Given the description of an element on the screen output the (x, y) to click on. 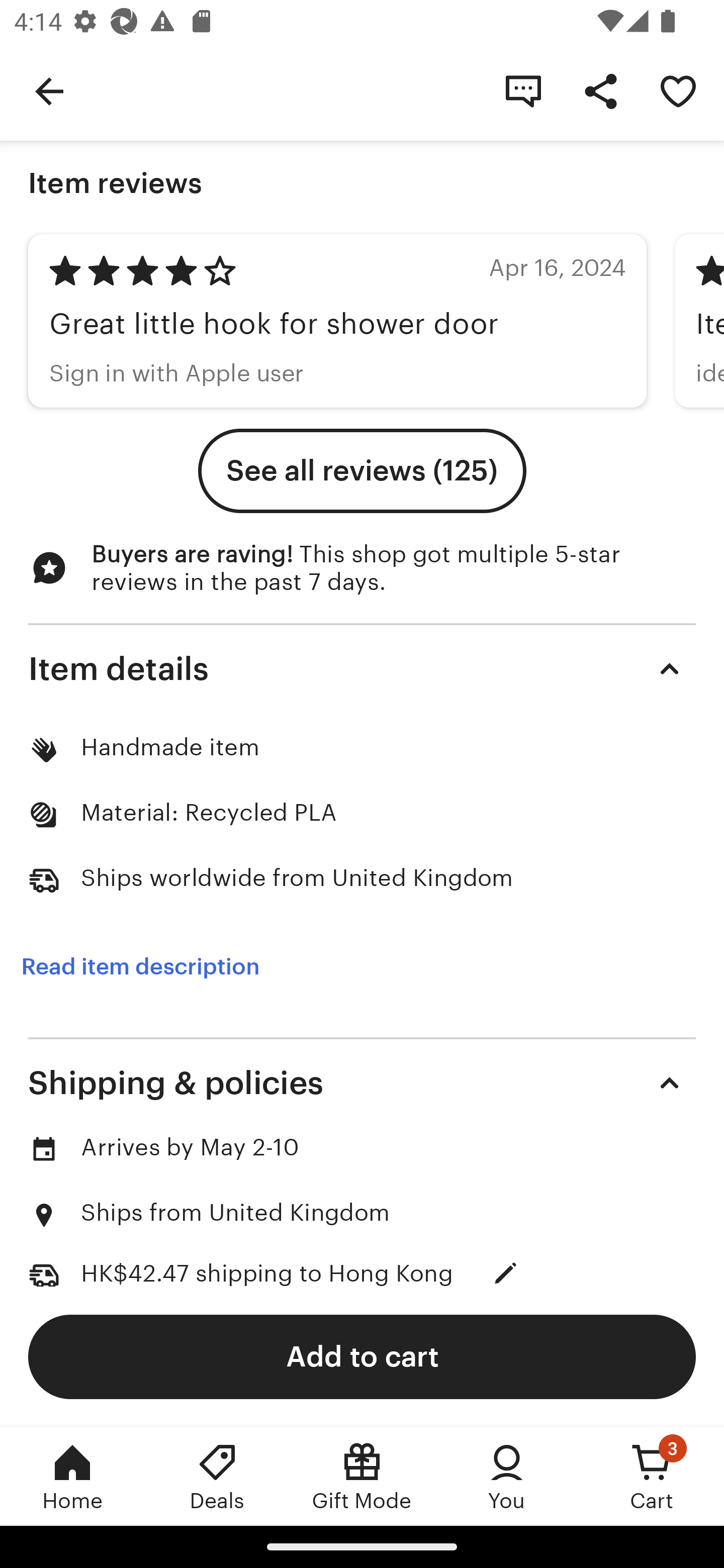
Navigate up (49, 90)
Contact shop (523, 90)
Share (600, 90)
Remove Small Shower Hook from your favorites (678, 90)
See all reviews (125) (362, 470)
Item details (362, 668)
Read item description (140, 967)
Shipping & policies (362, 1083)
Update (505, 1272)
Add to cart (361, 1355)
Deals (216, 1475)
Gift Mode (361, 1475)
You (506, 1475)
Cart, 3 new notifications Cart (651, 1475)
